Given the description of an element on the screen output the (x, y) to click on. 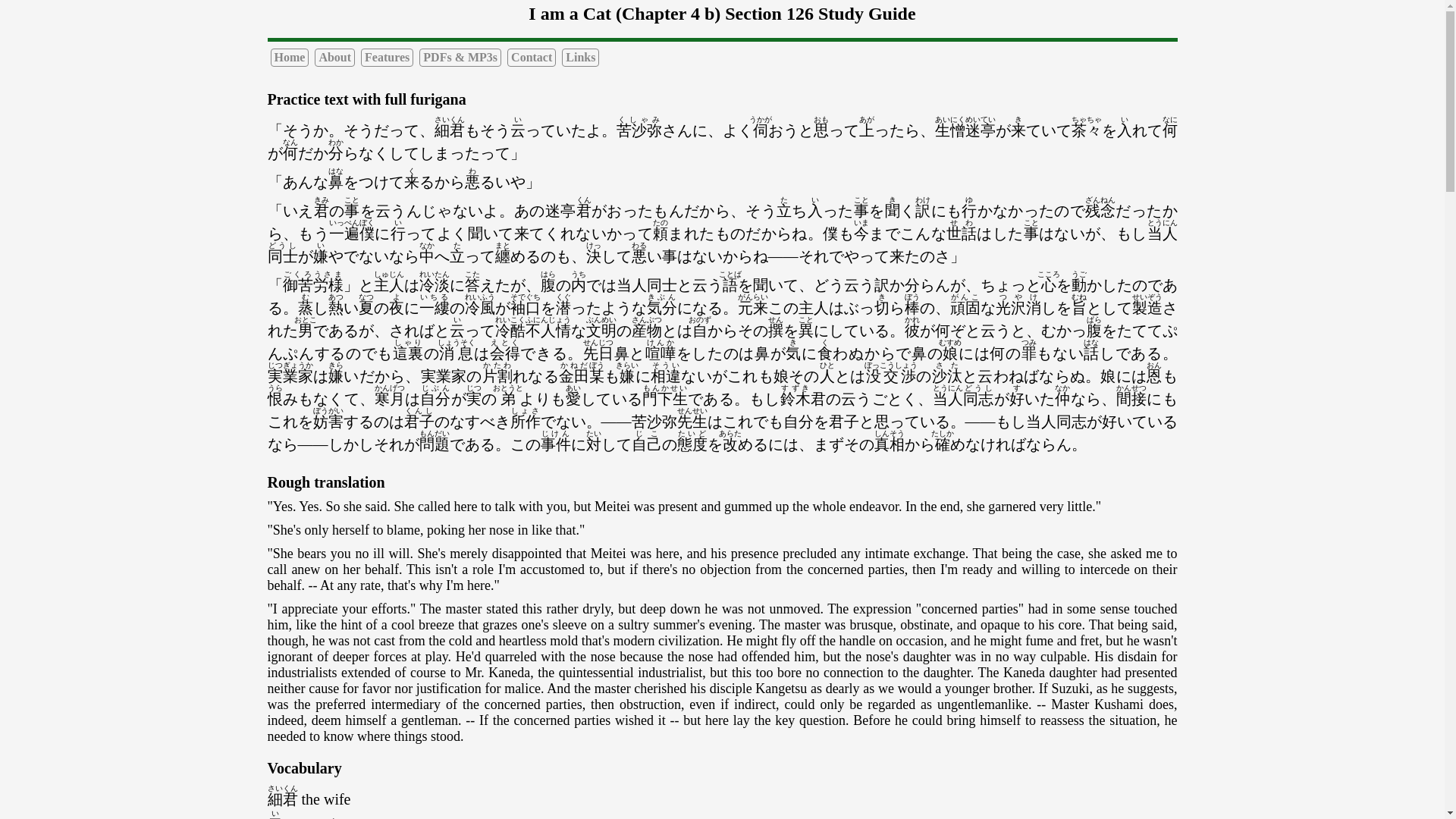
About (334, 57)
Links (580, 57)
Contact (531, 57)
Home (288, 57)
Features (387, 57)
